Given the description of an element on the screen output the (x, y) to click on. 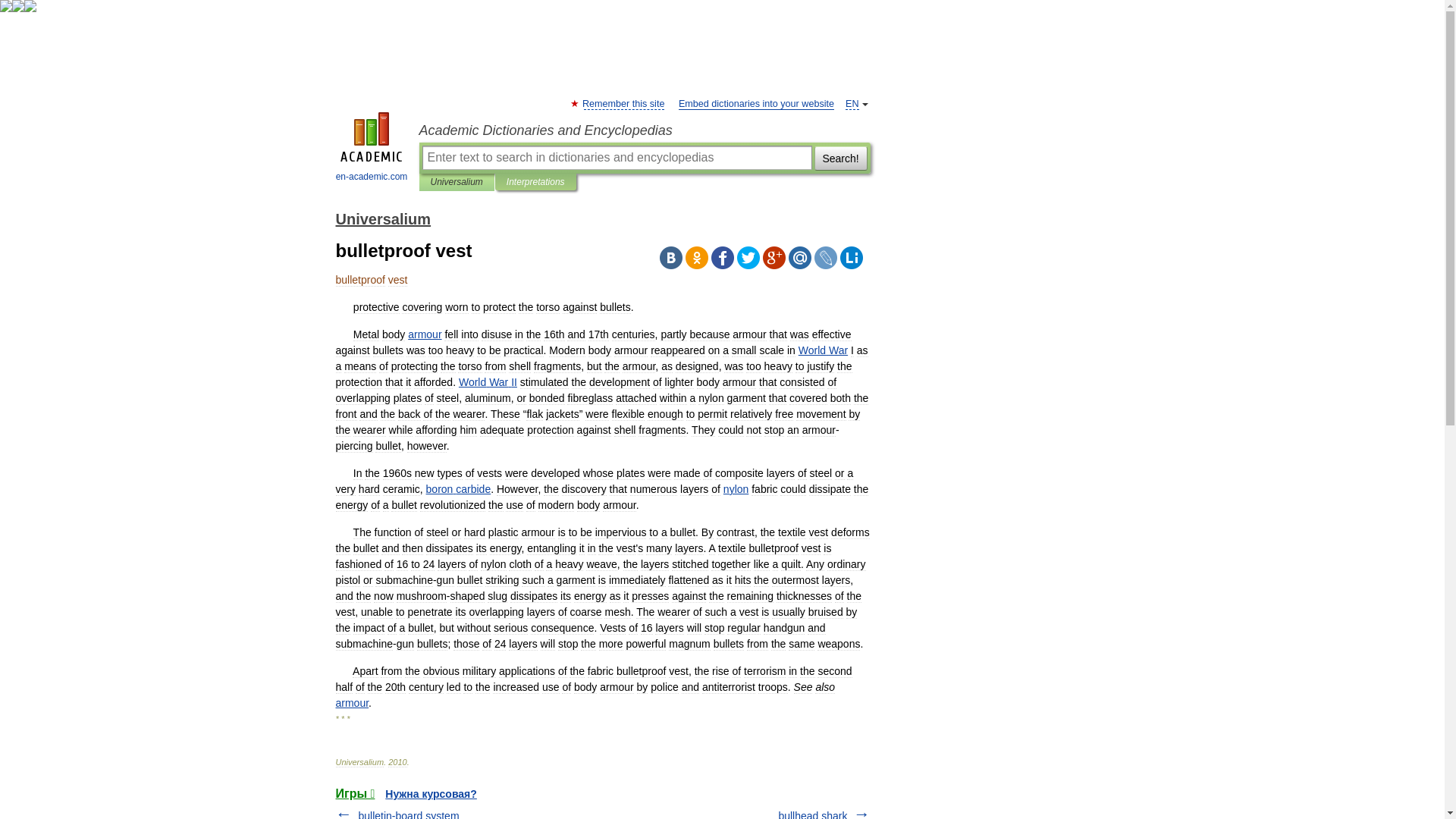
Embed dictionaries into your website (756, 103)
Universalium (456, 181)
boron carbide (459, 489)
World War II (487, 381)
EN (852, 103)
Academic Dictionaries and Encyclopedias (644, 130)
Remember this site (623, 103)
bulletin-board system (408, 814)
bulletin-board system (408, 814)
World War (822, 349)
